Given the description of an element on the screen output the (x, y) to click on. 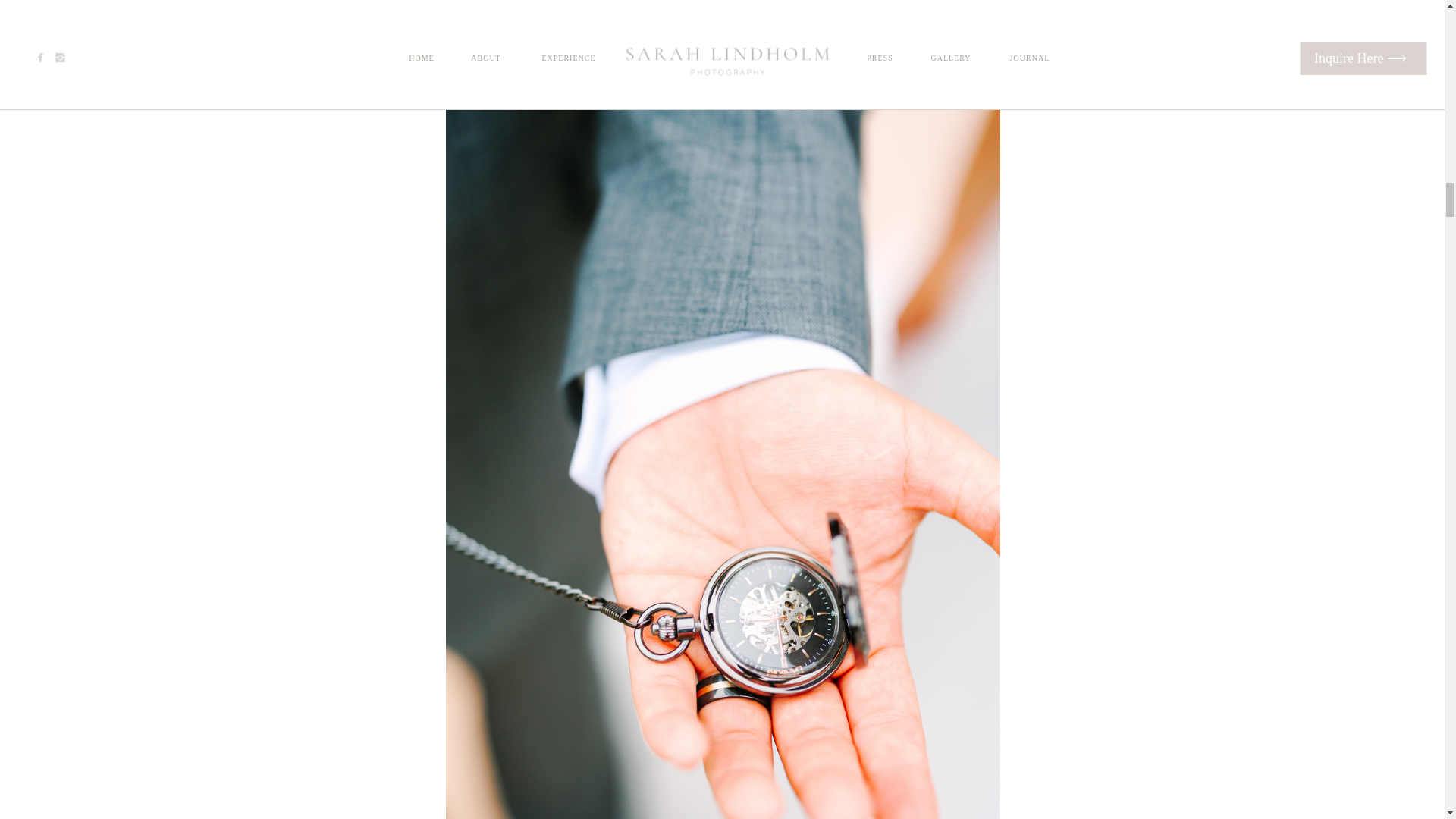
Dallas fort  worth wedding photographer (583, 33)
Dallas fort  worth wedding photographer (861, 33)
